Given the description of an element on the screen output the (x, y) to click on. 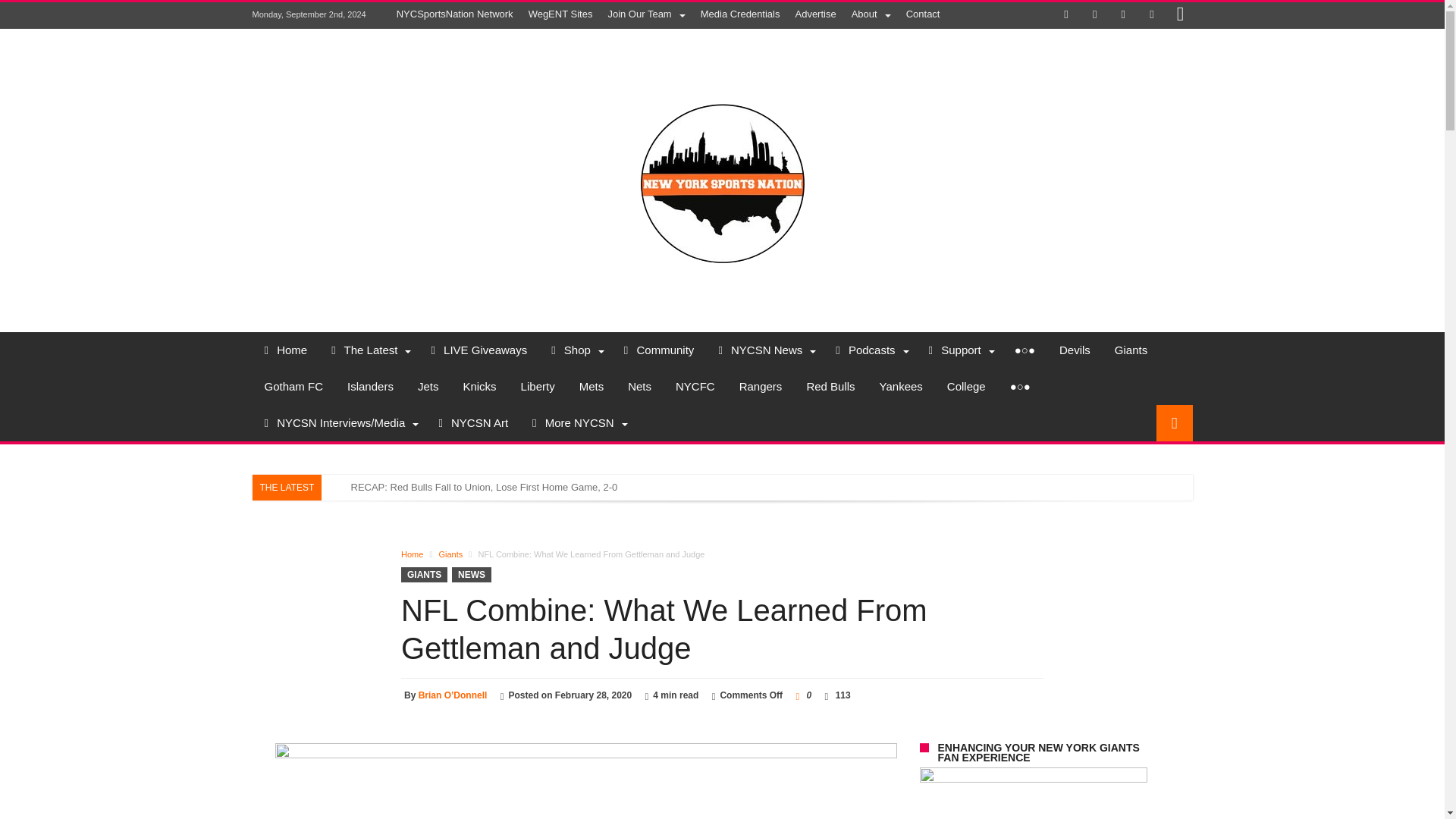
The Latest (368, 350)
New York Sports Nation (721, 81)
LinkedIn (1122, 15)
Join Our Team (646, 14)
Media Credentials (740, 14)
Youtube (1151, 15)
Advertise (815, 14)
NYCSN News (765, 350)
Podcasts (869, 350)
WegENT Sites (560, 14)
